Given the description of an element on the screen output the (x, y) to click on. 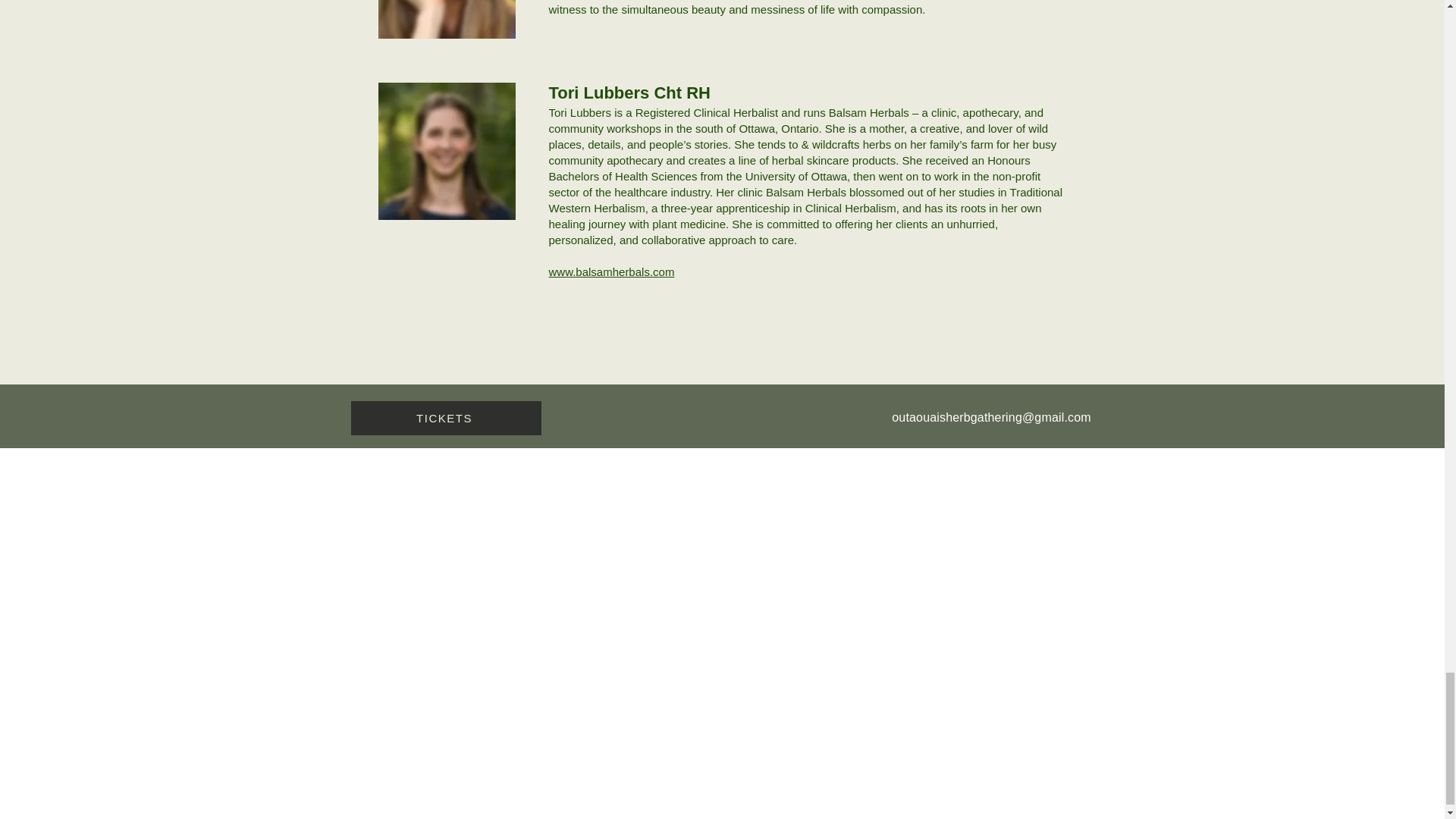
TICKETS (445, 417)
www.balsamherbals.com (611, 271)
Abrah-portrait-2.jpeg (446, 151)
Abrah-portrait-2.jpeg (446, 19)
